Given the description of an element on the screen output the (x, y) to click on. 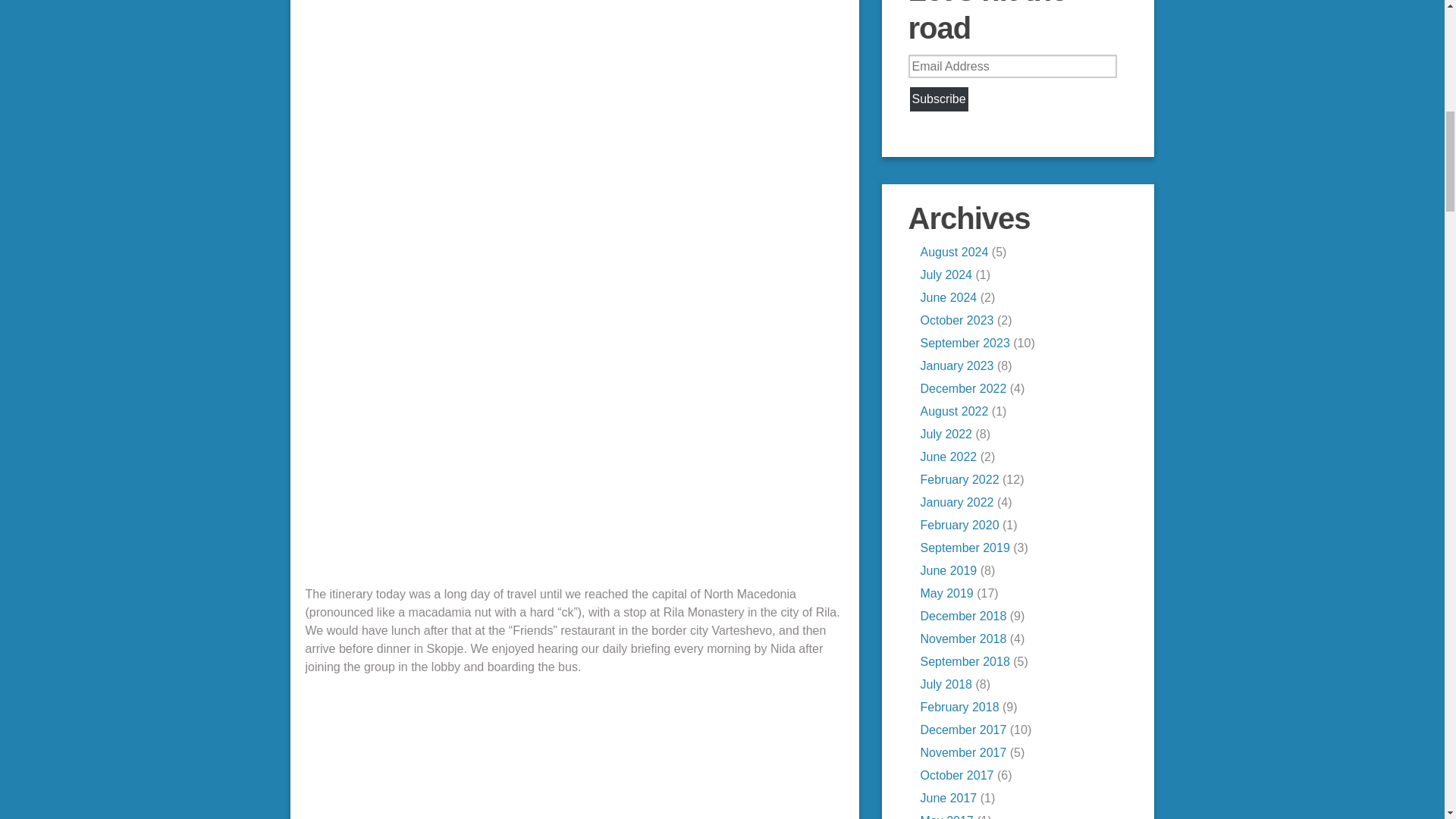
Subscribe (938, 99)
September 2023 (965, 342)
August 2024 (954, 251)
February 2022 (959, 479)
August 2022 (954, 410)
July 2022 (946, 433)
June 2024 (948, 297)
December 2022 (963, 388)
October 2023 (957, 319)
July 2024 (946, 274)
